Given the description of an element on the screen output the (x, y) to click on. 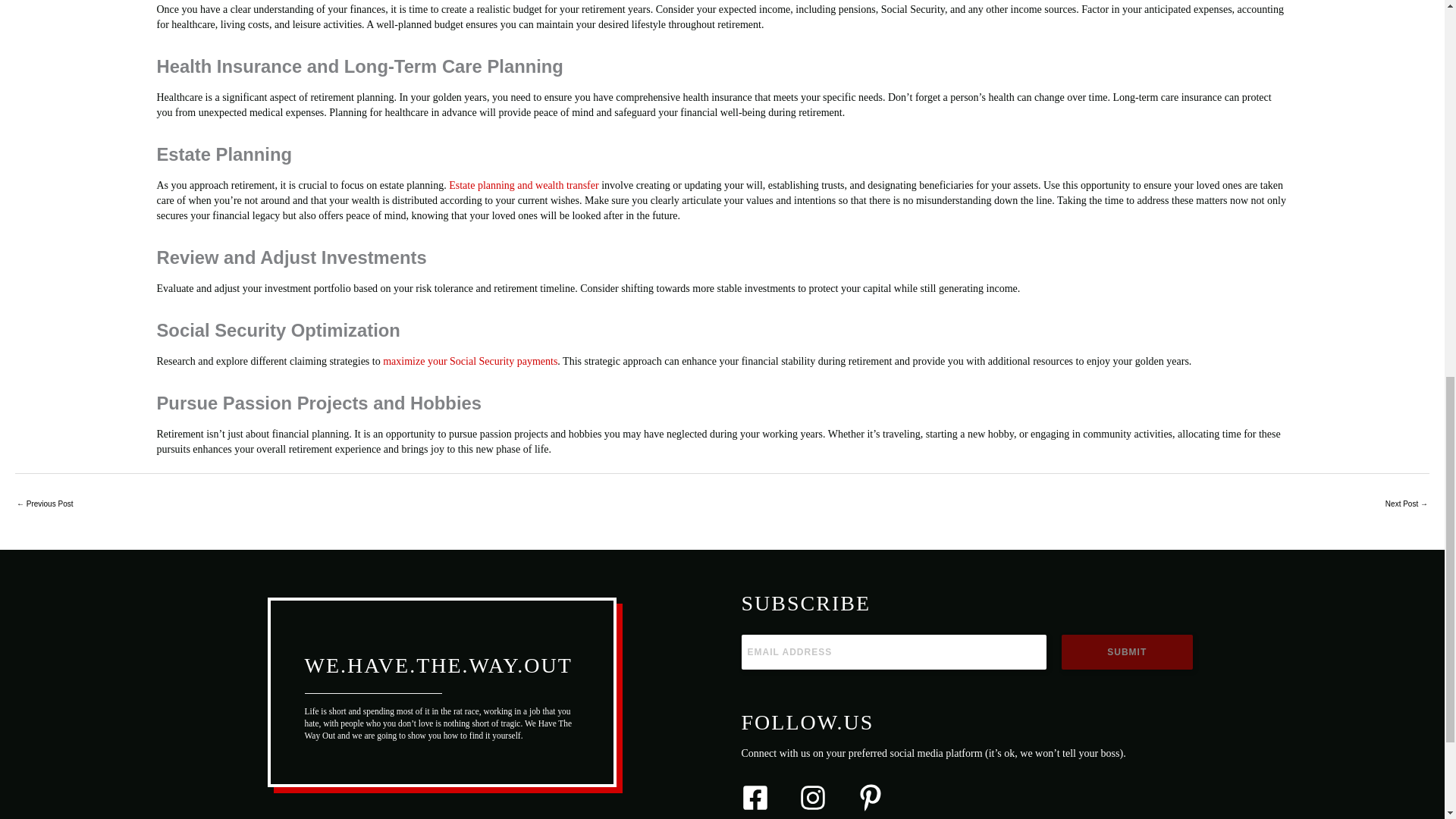
SUBMIT (1126, 651)
Estate planning and wealth transfer (523, 184)
Top Tips for Starting a Small Business (44, 505)
maximize your Social Security payments (469, 360)
